Given the description of an element on the screen output the (x, y) to click on. 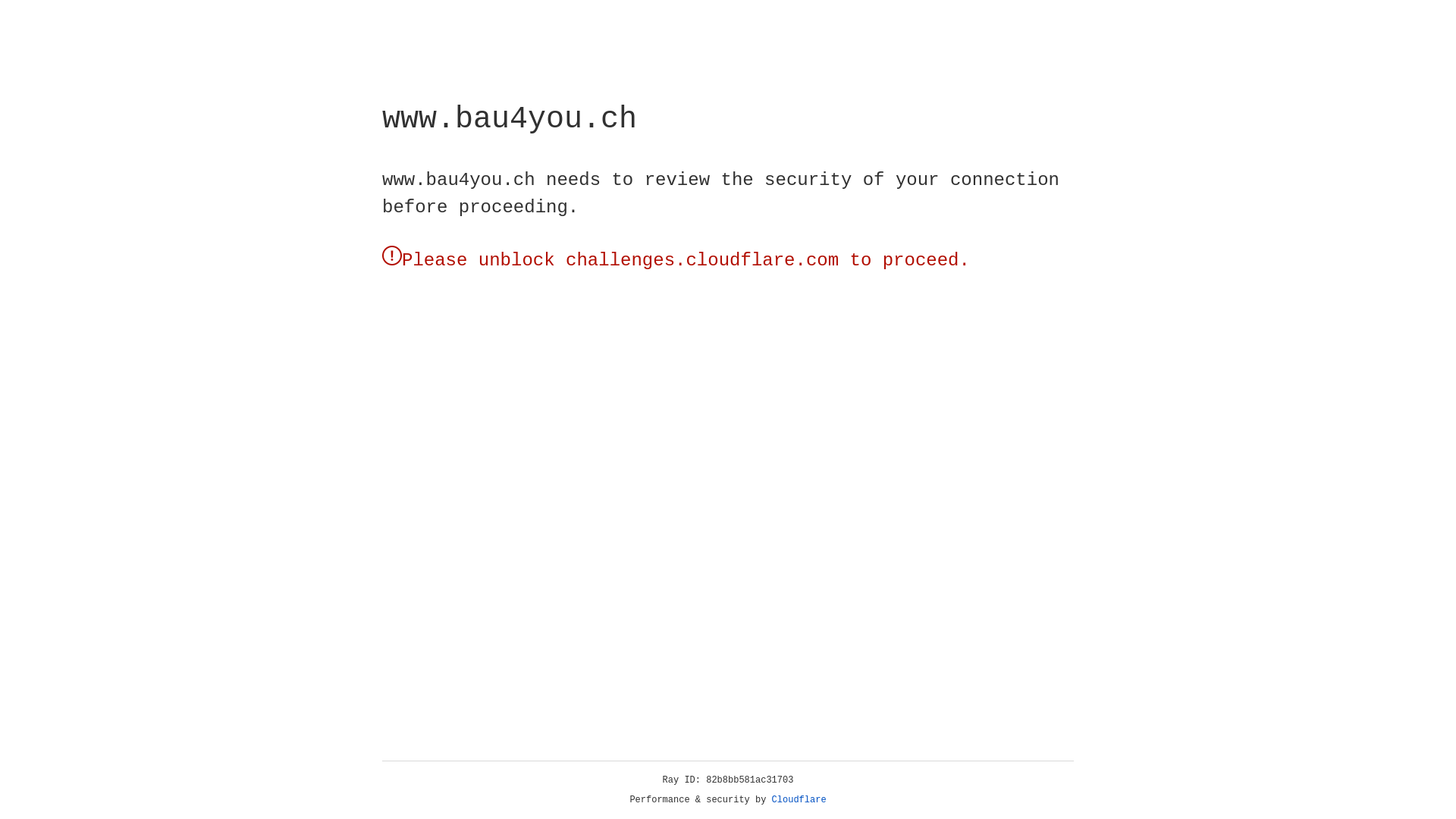
Cloudflare Element type: text (165, 107)
